Given the description of an element on the screen output the (x, y) to click on. 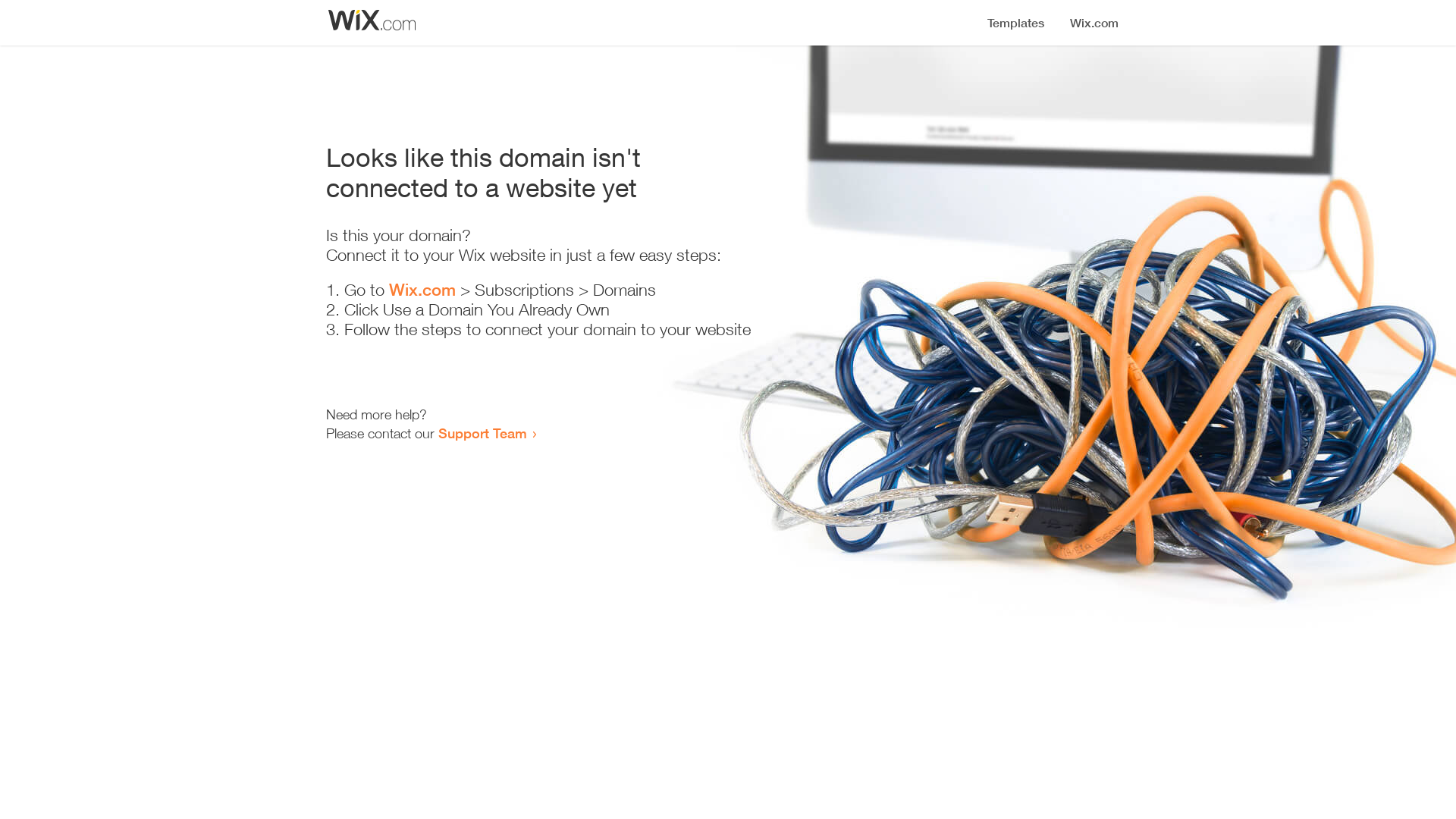
Support Team Element type: text (482, 432)
Wix.com Element type: text (422, 289)
